Given the description of an element on the screen output the (x, y) to click on. 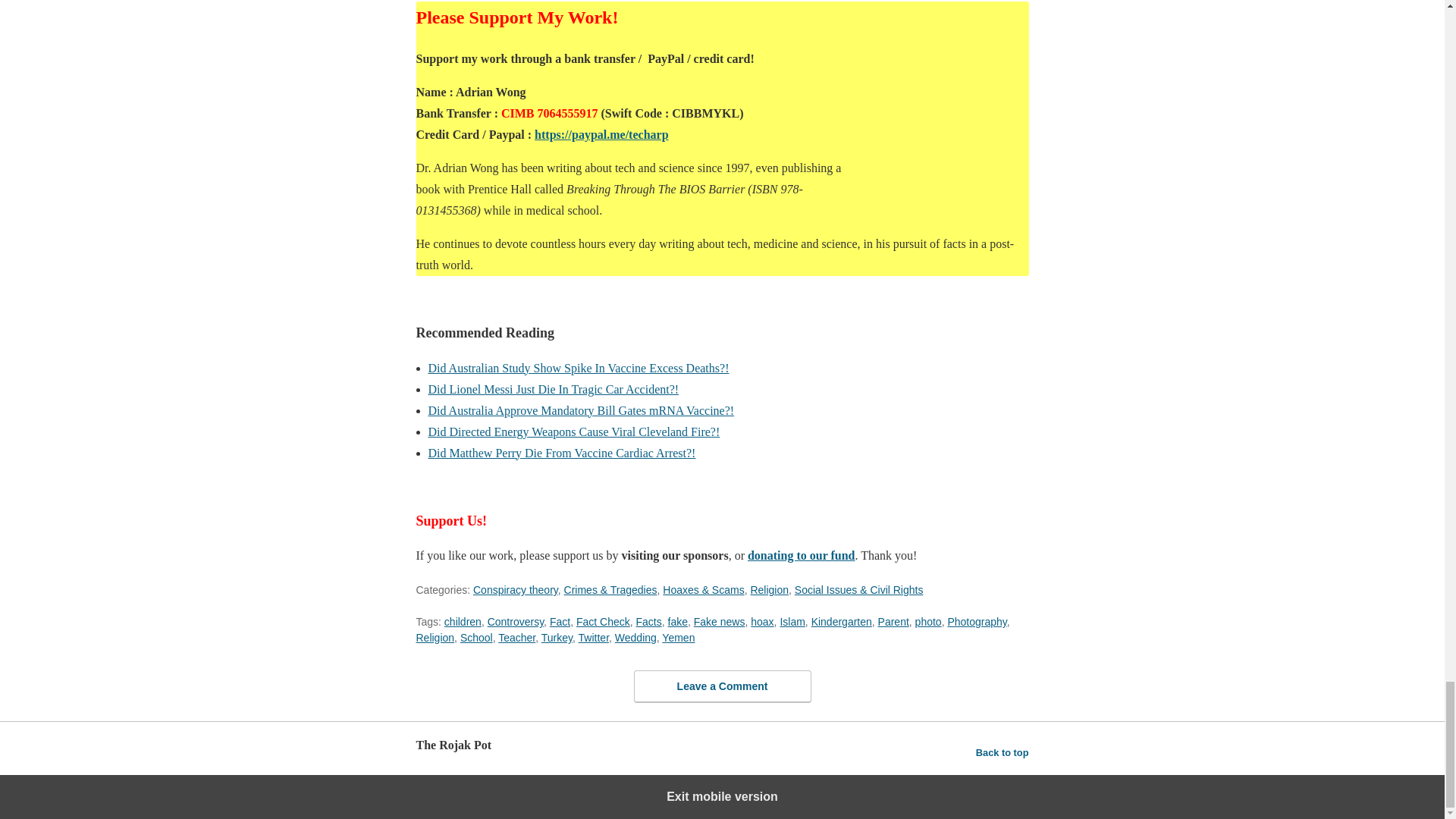
Did Directed Energy Weapons Cause Viral Cleveland Fire?! (573, 431)
Controversy (515, 621)
Religion (769, 589)
School (476, 637)
Islam (791, 621)
Fake news (719, 621)
Did Australian Study Show Spike In Vaccine Excess Deaths?! (578, 367)
Did Lionel Messi Just Die In Tragic Car Accident?! (553, 389)
children (462, 621)
hoax (762, 621)
Photography (976, 621)
Did Australia Approve Mandatory Bill Gates mRNA Vaccine?! (580, 410)
Facts (647, 621)
Parent (892, 621)
Religion (434, 637)
